Given the description of an element on the screen output the (x, y) to click on. 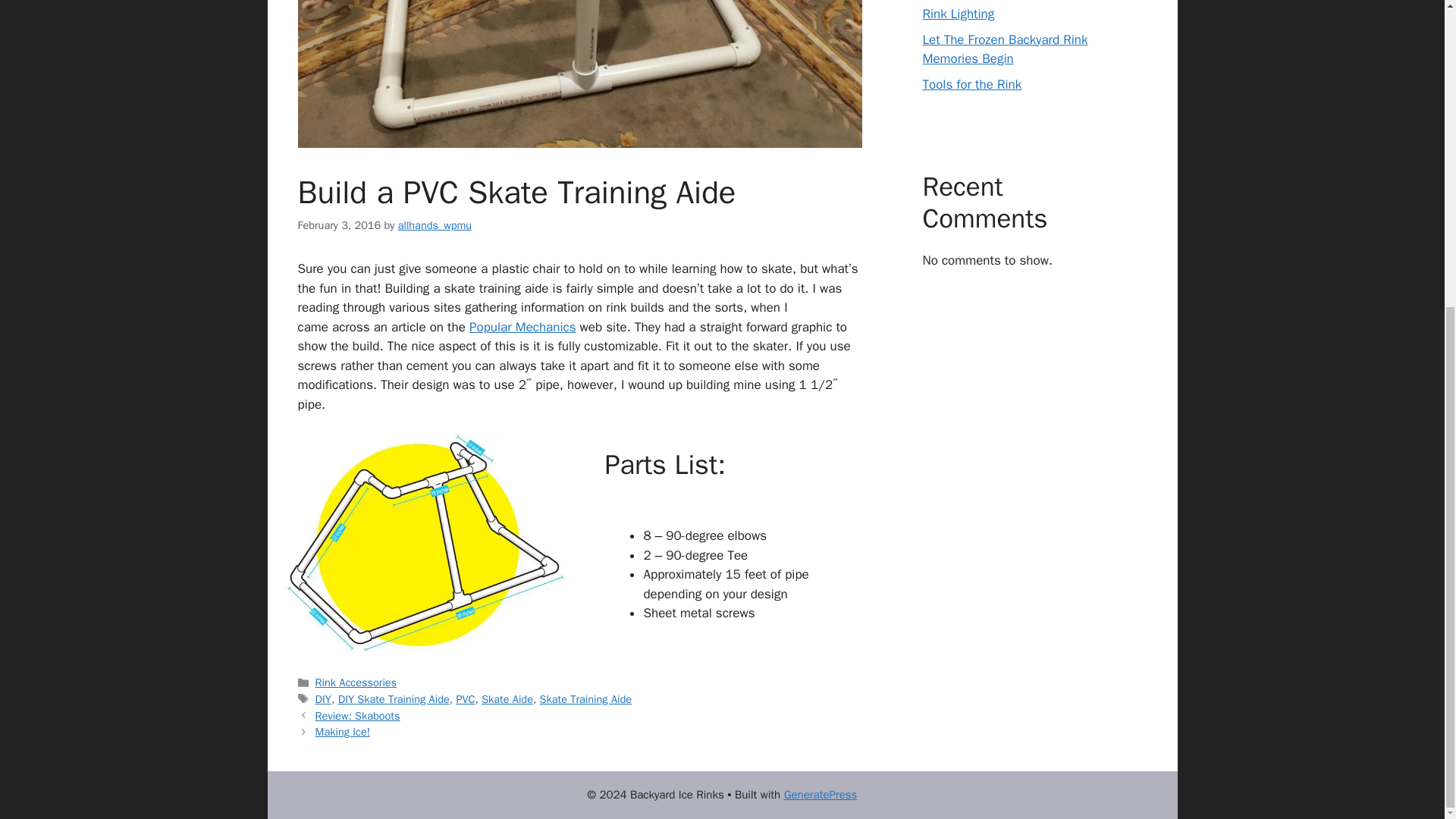
DIY (323, 698)
Skate Training Aide (585, 698)
Rink Accessories (356, 682)
Let The Frozen Backyard Rink Memories Begin (1004, 48)
Popular Mechanics (522, 326)
Skate Aide (506, 698)
Rink Lighting (957, 12)
Making Ice! (342, 731)
Tools for the Rink (971, 84)
PVC (464, 698)
Review: Skaboots (357, 715)
DIY Skate Training Aide (393, 698)
GeneratePress (820, 794)
